Given the description of an element on the screen output the (x, y) to click on. 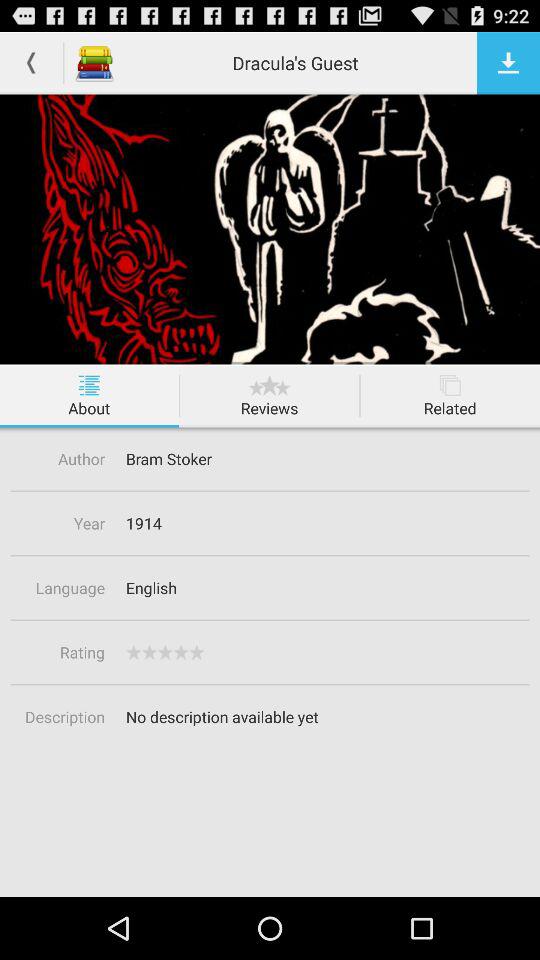
download button (508, 62)
